Given the description of an element on the screen output the (x, y) to click on. 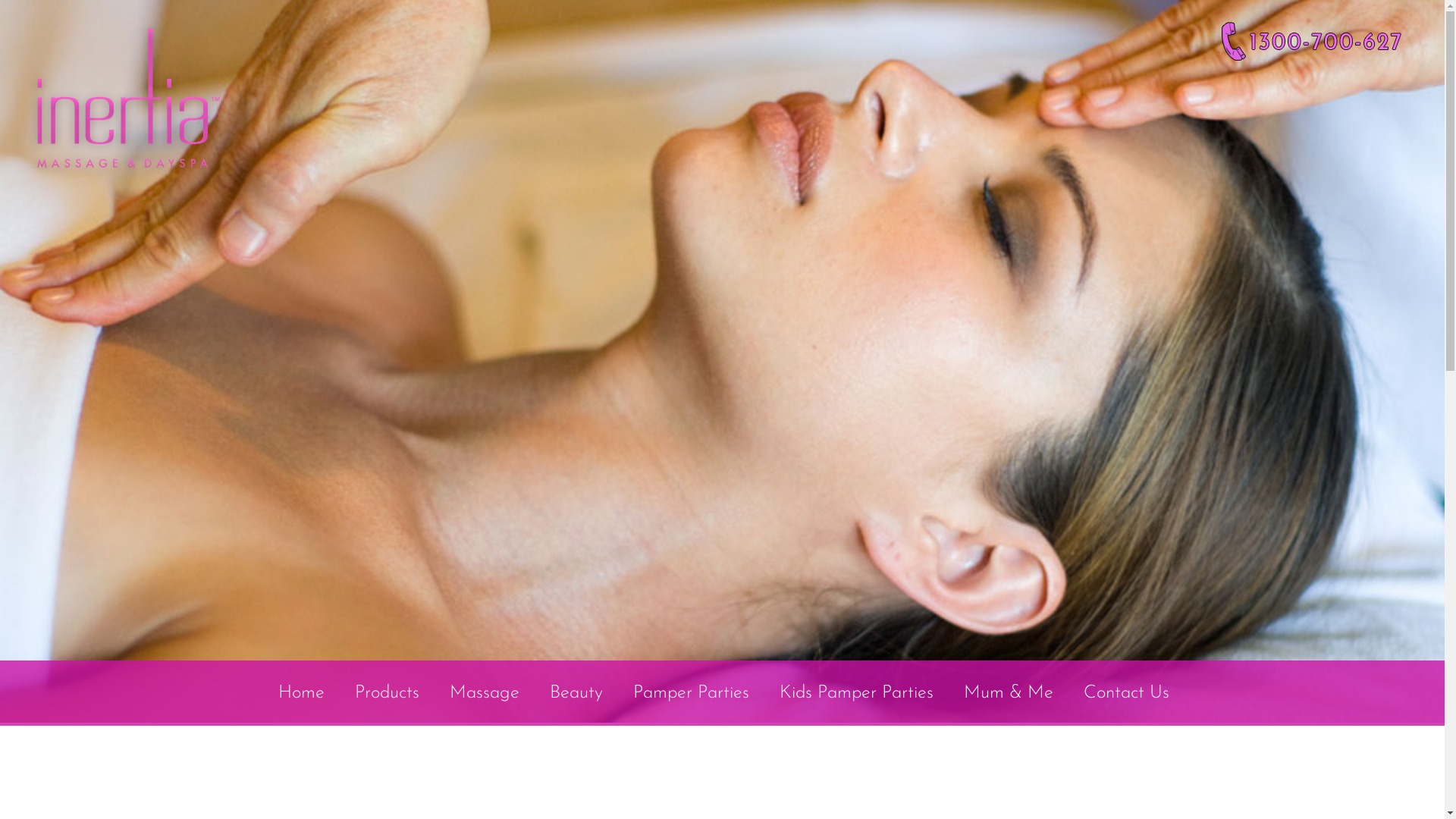
Inertia Day Spa Element type: hover (127, 98)
Products Element type: text (386, 692)
Mum & Me Element type: text (1008, 692)
Massage Element type: text (484, 692)
Mobile Beauty Therapists in Brisbane Element type: hover (1311, 40)
Pamper Parties Element type: text (691, 692)
Kids Pamper Parties Element type: text (856, 692)
Home Element type: text (301, 692)
Beauty Element type: text (576, 692)
Contact Us Element type: text (1124, 692)
